Given the description of an element on the screen output the (x, y) to click on. 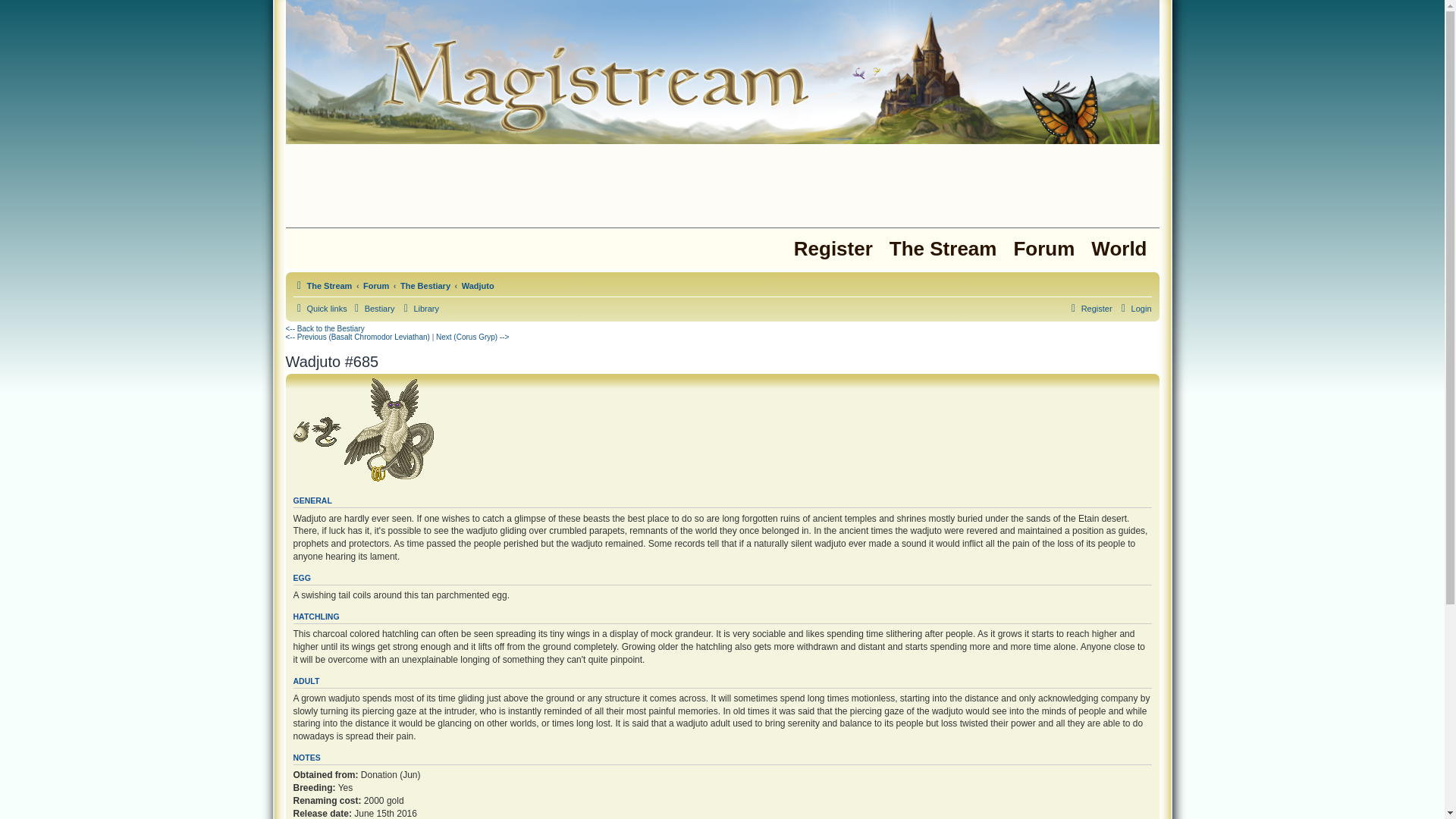
Register (833, 248)
Wadjuto (478, 285)
Tales of Magistream's world can be found here (418, 308)
Library (418, 308)
Create an account on the site (833, 248)
The Stream (943, 248)
Register (1089, 308)
Index of the discussion boards (1043, 248)
The Bestiary (424, 285)
